Given the description of an element on the screen output the (x, y) to click on. 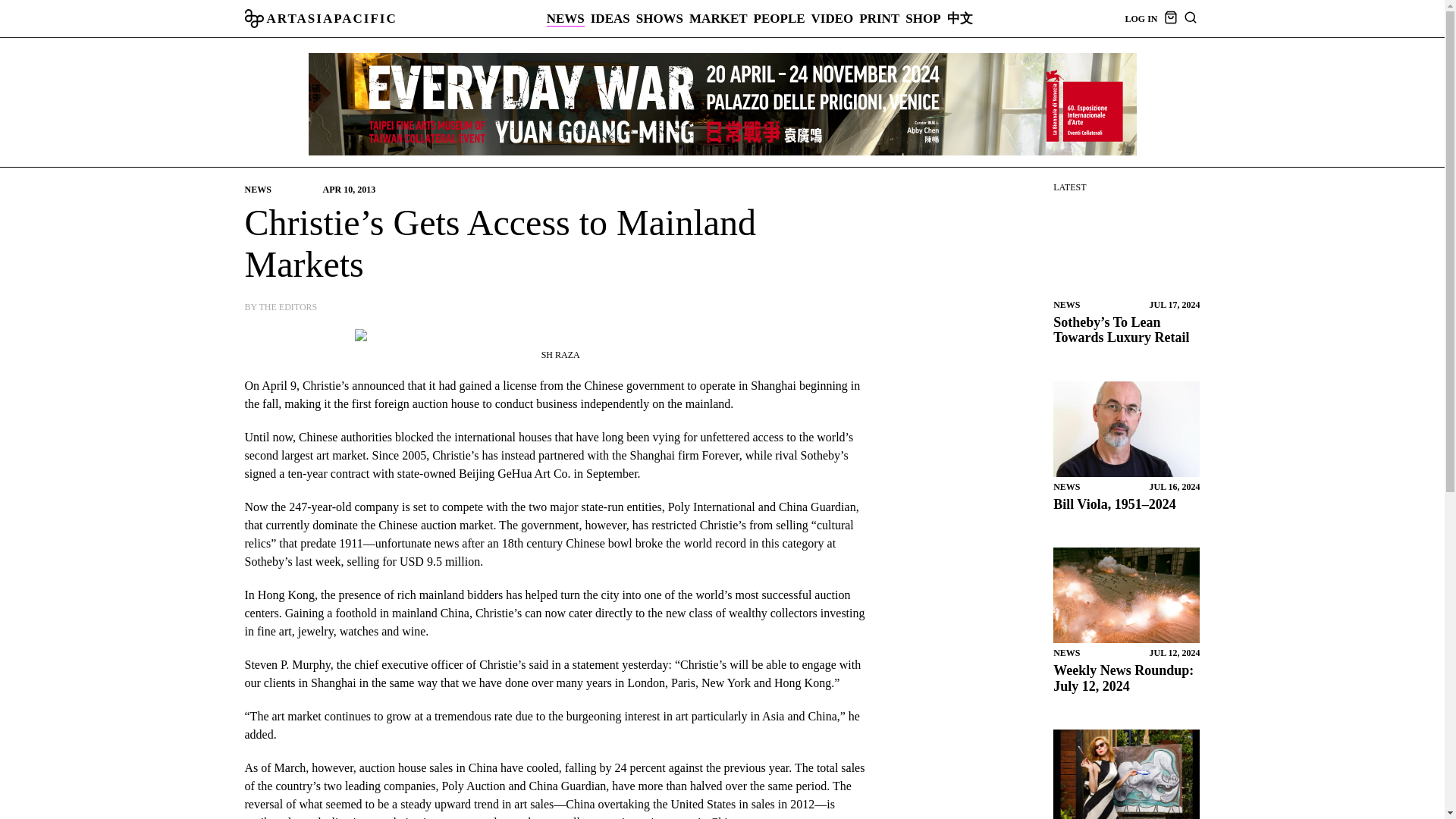
VIDEO (831, 18)
Weekly News Roundup: July 12, 2024 (1125, 594)
SHOP (922, 18)
SHOWS (659, 18)
CART EMPTY (1169, 20)
LOG IN (1140, 18)
IDEAS (610, 18)
ARTASIAPACIFIC (320, 18)
MARKET (718, 18)
Weekly News Roundup: July 12, 2024 (1122, 677)
PEOPLE (779, 18)
Search (1269, 409)
PRINT (879, 18)
NEWS (566, 18)
